Given the description of an element on the screen output the (x, y) to click on. 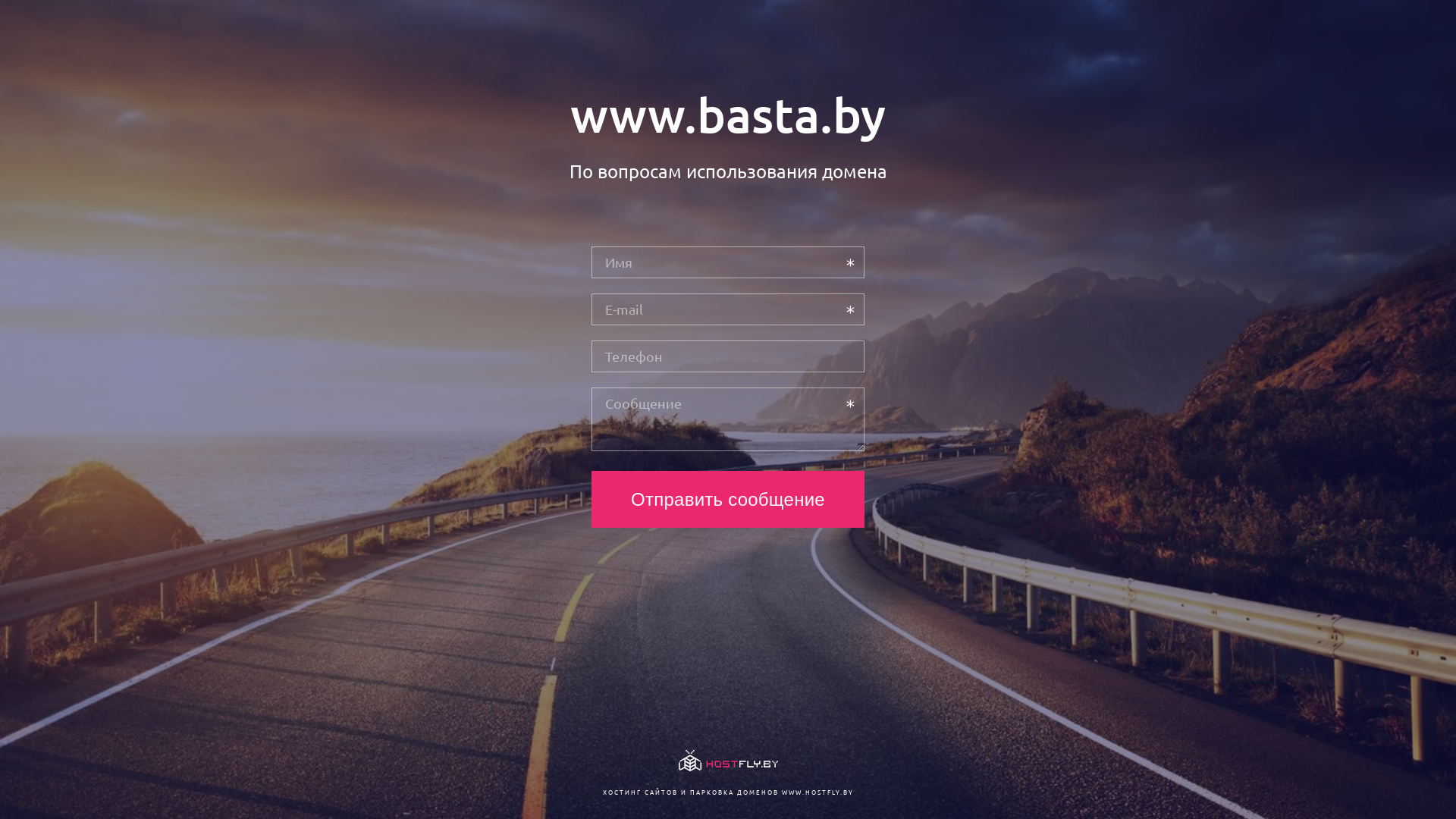
WWW.HOSTFLY.BY Element type: text (817, 791)
